Given the description of an element on the screen output the (x, y) to click on. 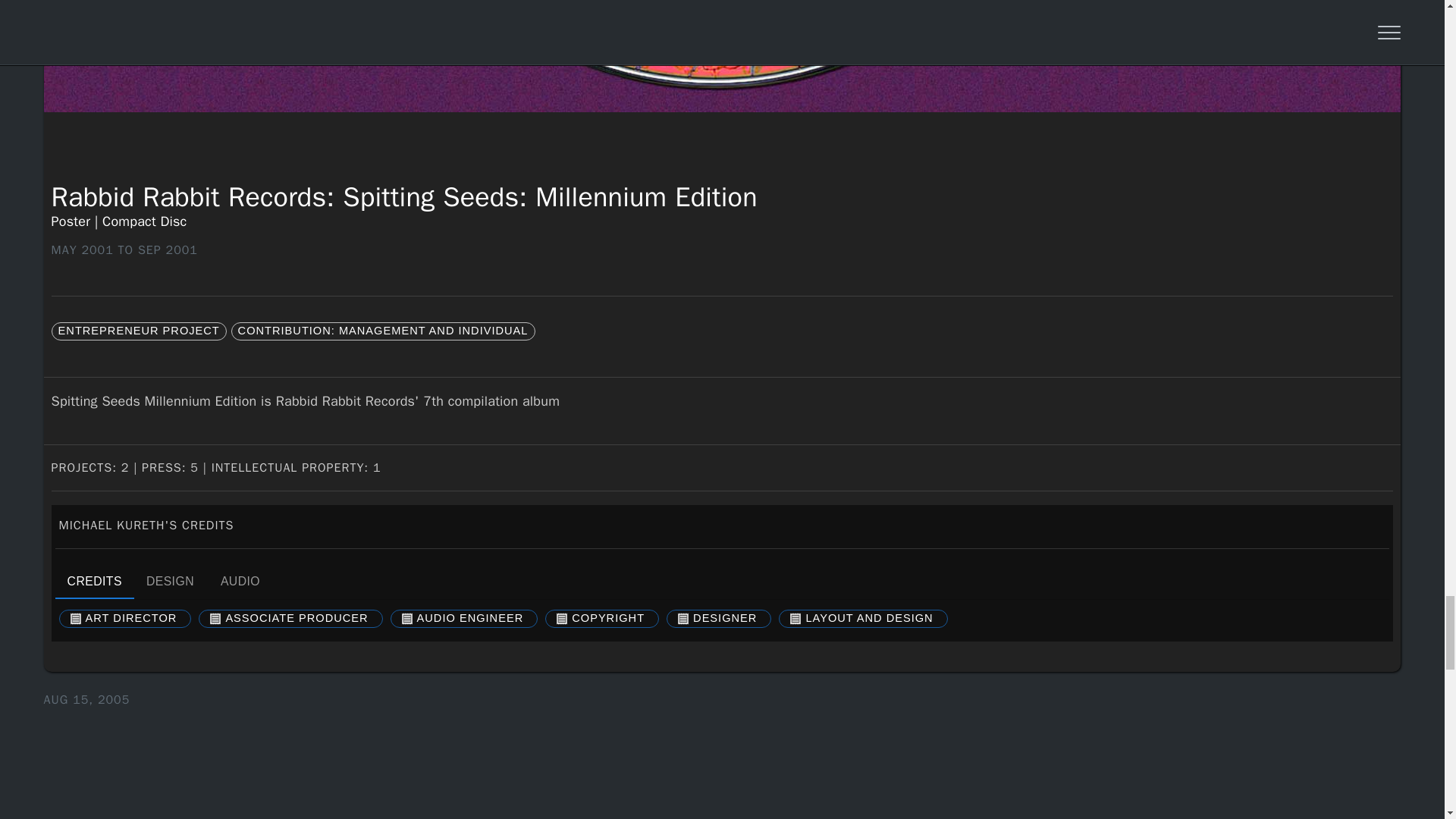
CREDITS (722, 580)
AUDIO (94, 580)
DESIGN (240, 580)
